Given the description of an element on the screen output the (x, y) to click on. 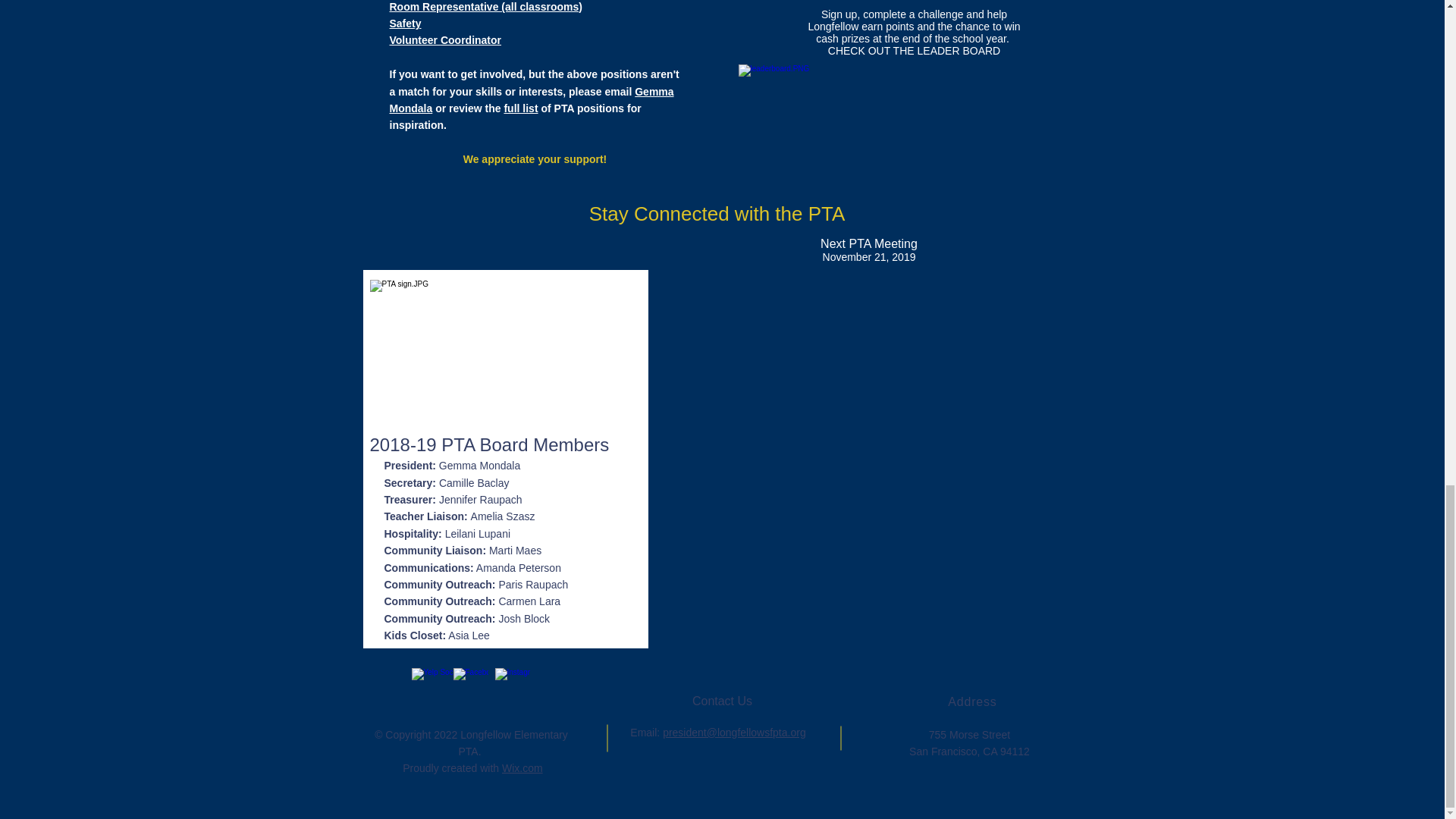
Gemma Mondala (532, 99)
Volunteer Coordinator (446, 39)
Communications (427, 567)
Secretary (408, 482)
Community Outreach (438, 618)
Wix.com (522, 767)
Community Outreach (438, 584)
Treasurer (408, 499)
Community Outreach (438, 601)
Hospitality (411, 533)
Safety (406, 23)
full list (520, 108)
